Given the description of an element on the screen output the (x, y) to click on. 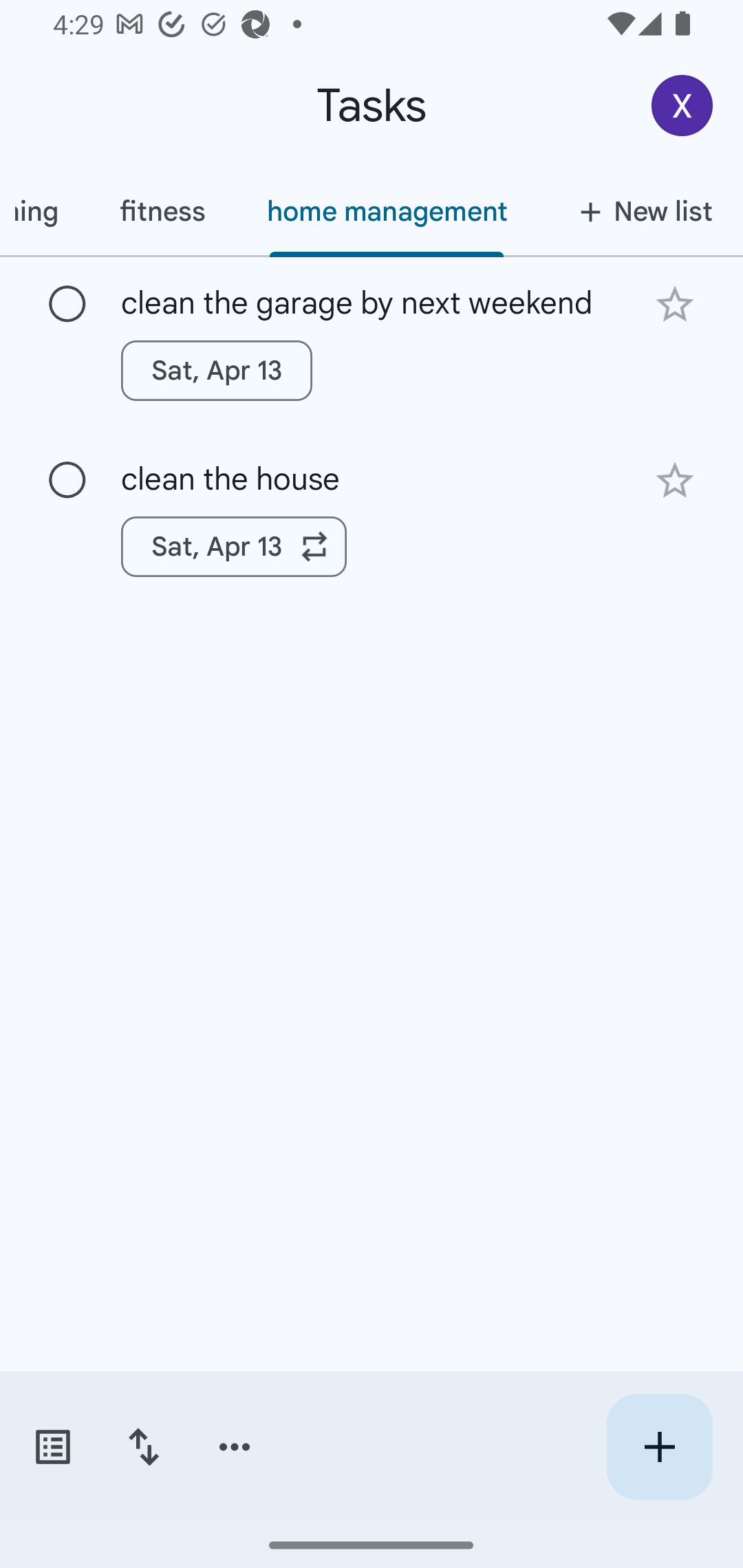
holiday planning (44, 211)
fitness (162, 211)
New list (640, 211)
Add star (674, 303)
Mark as complete (67, 304)
Sat, Apr 13 (216, 369)
Add star (674, 480)
Mark as complete (67, 480)
Sat, Apr 13 (233, 546)
Switch task lists (52, 1447)
Create new task (659, 1446)
Change sort order (143, 1446)
More options (234, 1446)
